Given the description of an element on the screen output the (x, y) to click on. 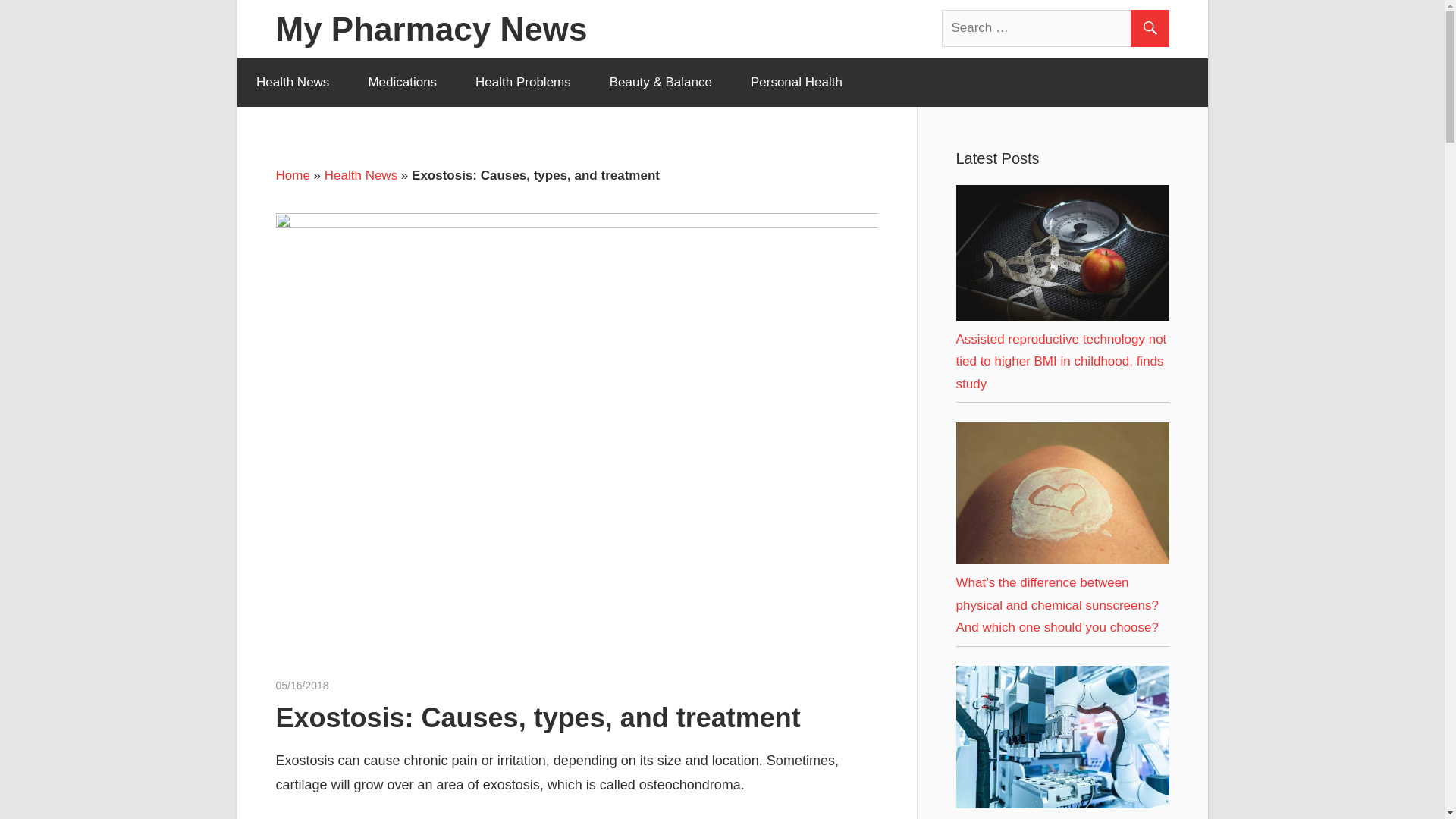
Personal Health (795, 82)
Home (293, 175)
Health News (291, 82)
22:07 (302, 685)
My Pharmacy News (432, 28)
Search for: (1055, 27)
Medications (403, 82)
Health News (360, 175)
Health Problems (524, 82)
